Given the description of an element on the screen output the (x, y) to click on. 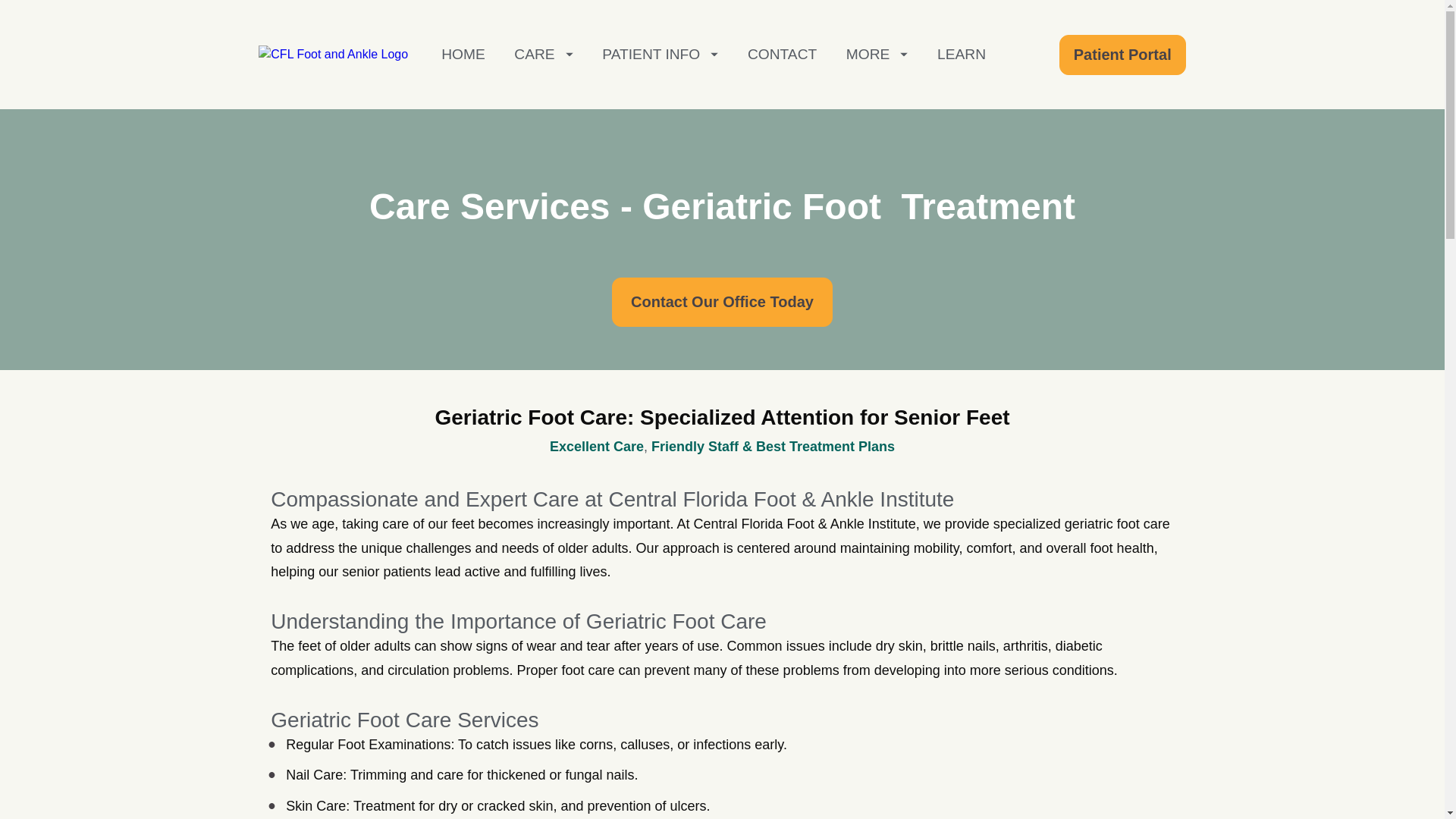
CONTACT (782, 54)
HOME (462, 54)
MORE (876, 54)
PATIENT INFO (659, 54)
Patient Portal (1122, 55)
CARE (542, 54)
Contact Our Office Today (721, 301)
LEARN (961, 54)
